Given the description of an element on the screen output the (x, y) to click on. 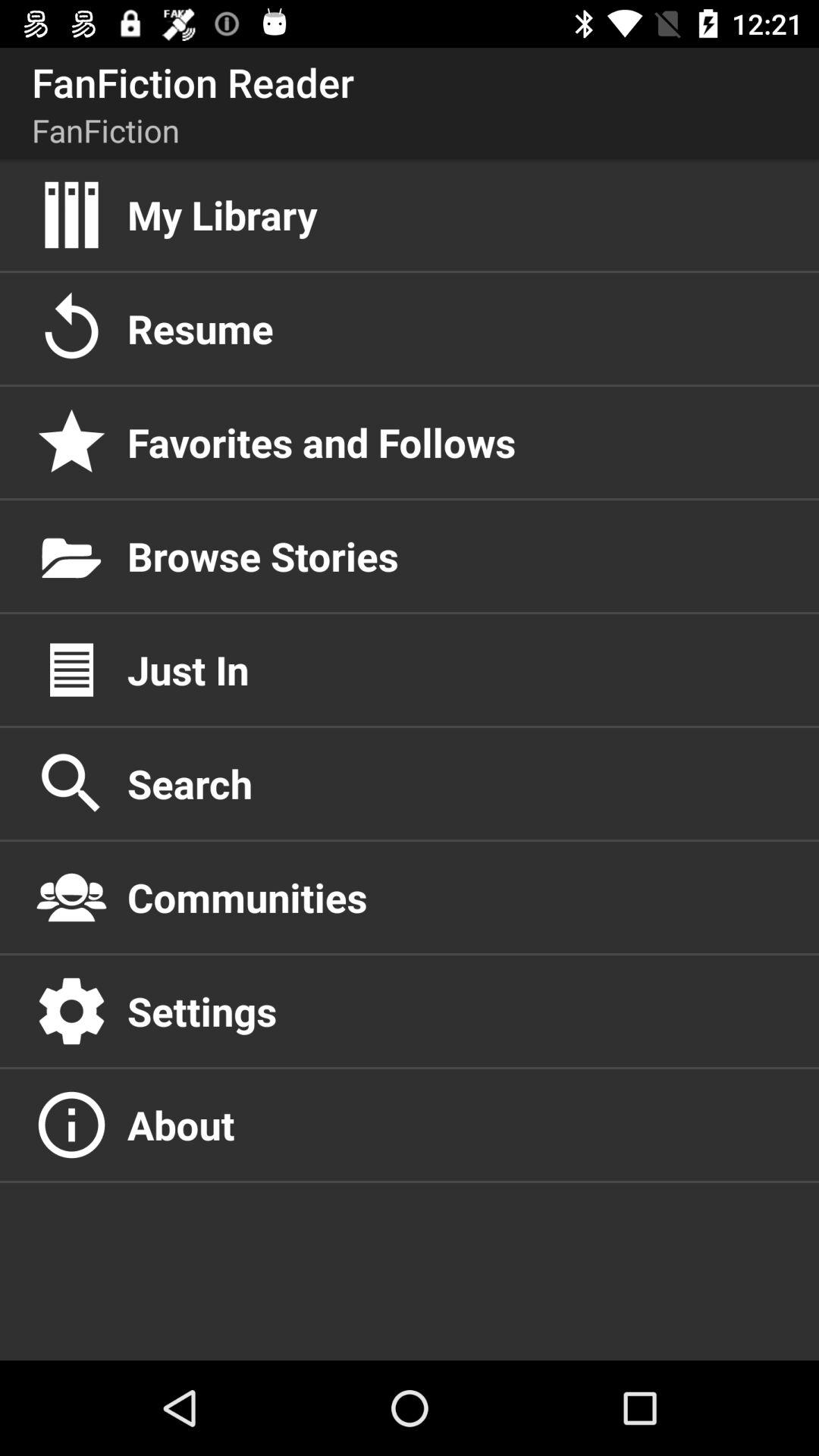
flip until resume item (457, 328)
